Given the description of an element on the screen output the (x, y) to click on. 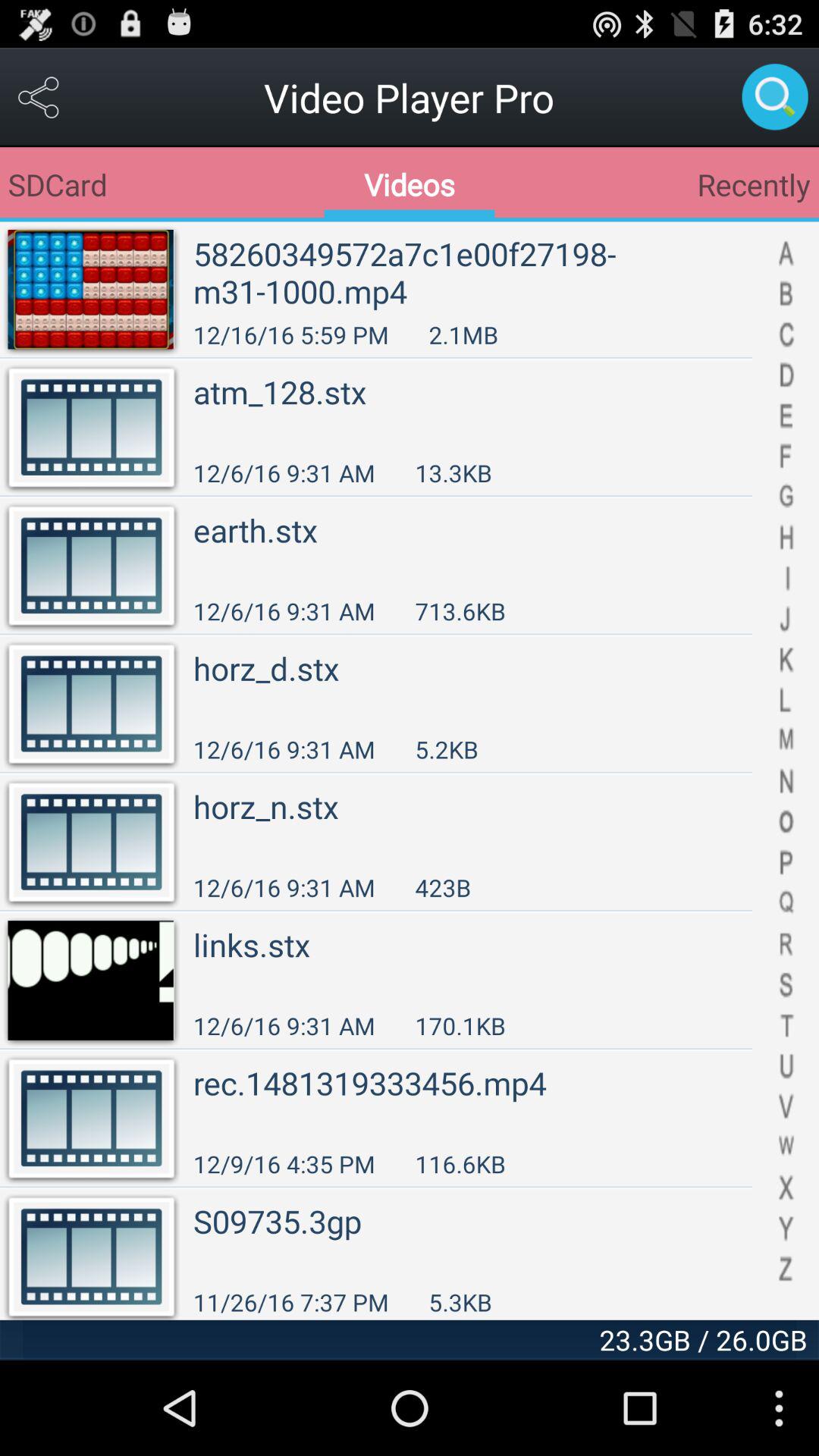
open search (774, 97)
